Given the description of an element on the screen output the (x, y) to click on. 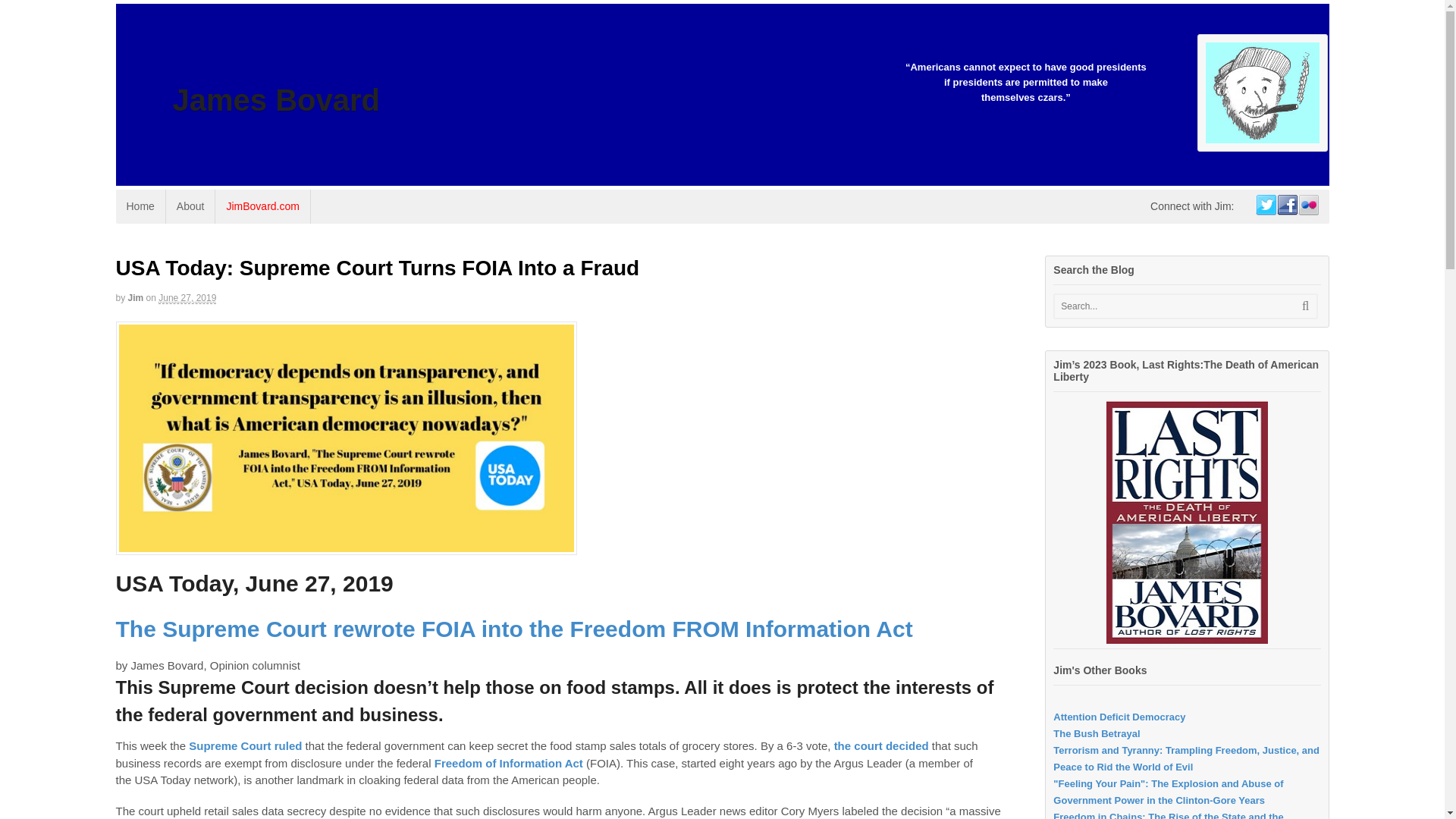
About (190, 206)
JimBovard.com (261, 206)
Search... (1171, 305)
Home (139, 206)
the court decided (881, 745)
Flickr (1307, 205)
Facebook (1286, 205)
Posts by Jim (136, 297)
James Bovard (276, 100)
Freedom of Information Act (509, 762)
